Given the description of an element on the screen output the (x, y) to click on. 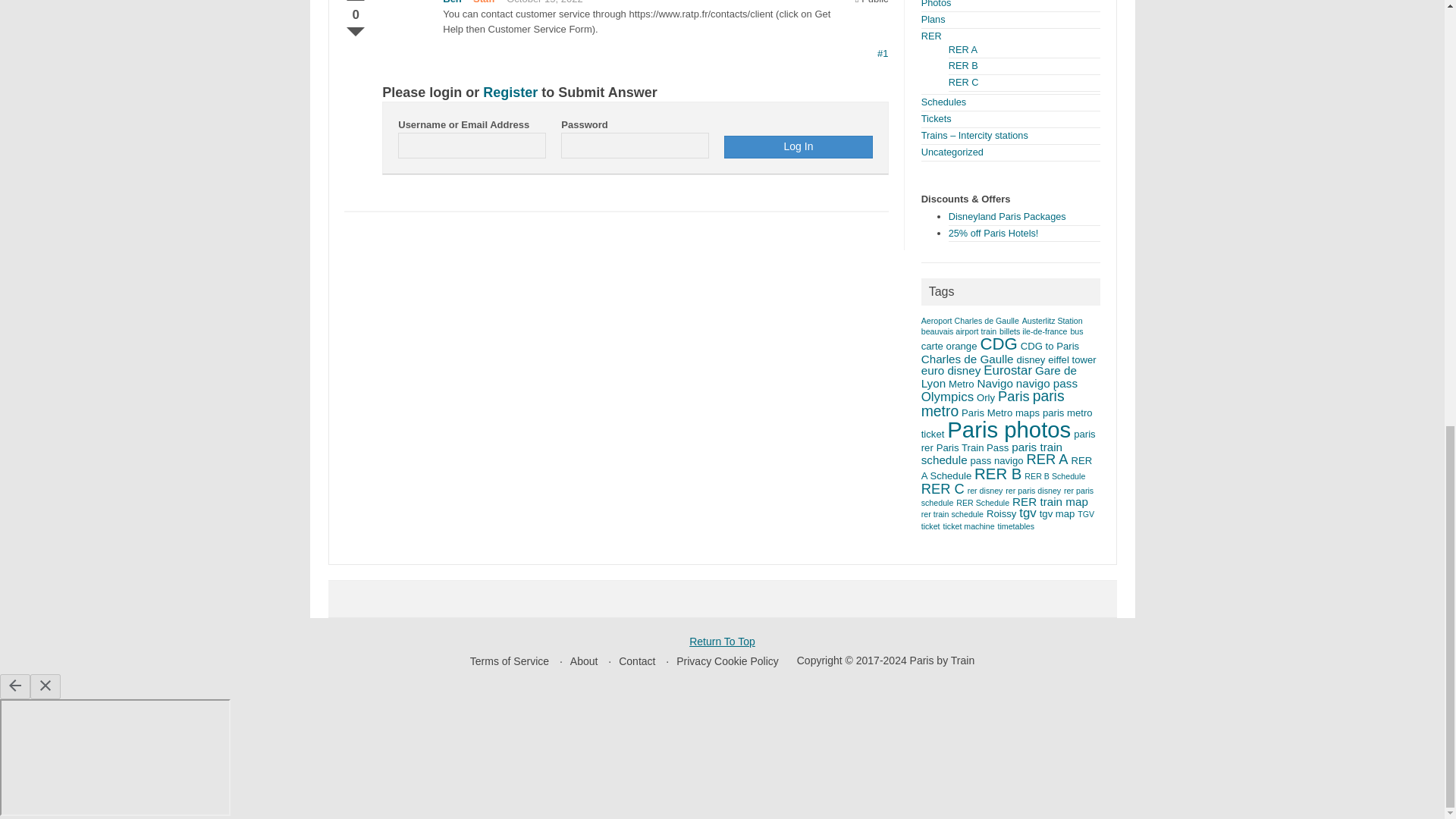
Vote Down (354, 28)
Log In (797, 146)
Register (510, 92)
VOTE DOWN (354, 28)
Ben (451, 2)
Posts by Ben (451, 2)
October 15, 2022 (544, 2)
Register (510, 92)
The answer link (882, 52)
